Given the description of an element on the screen output the (x, y) to click on. 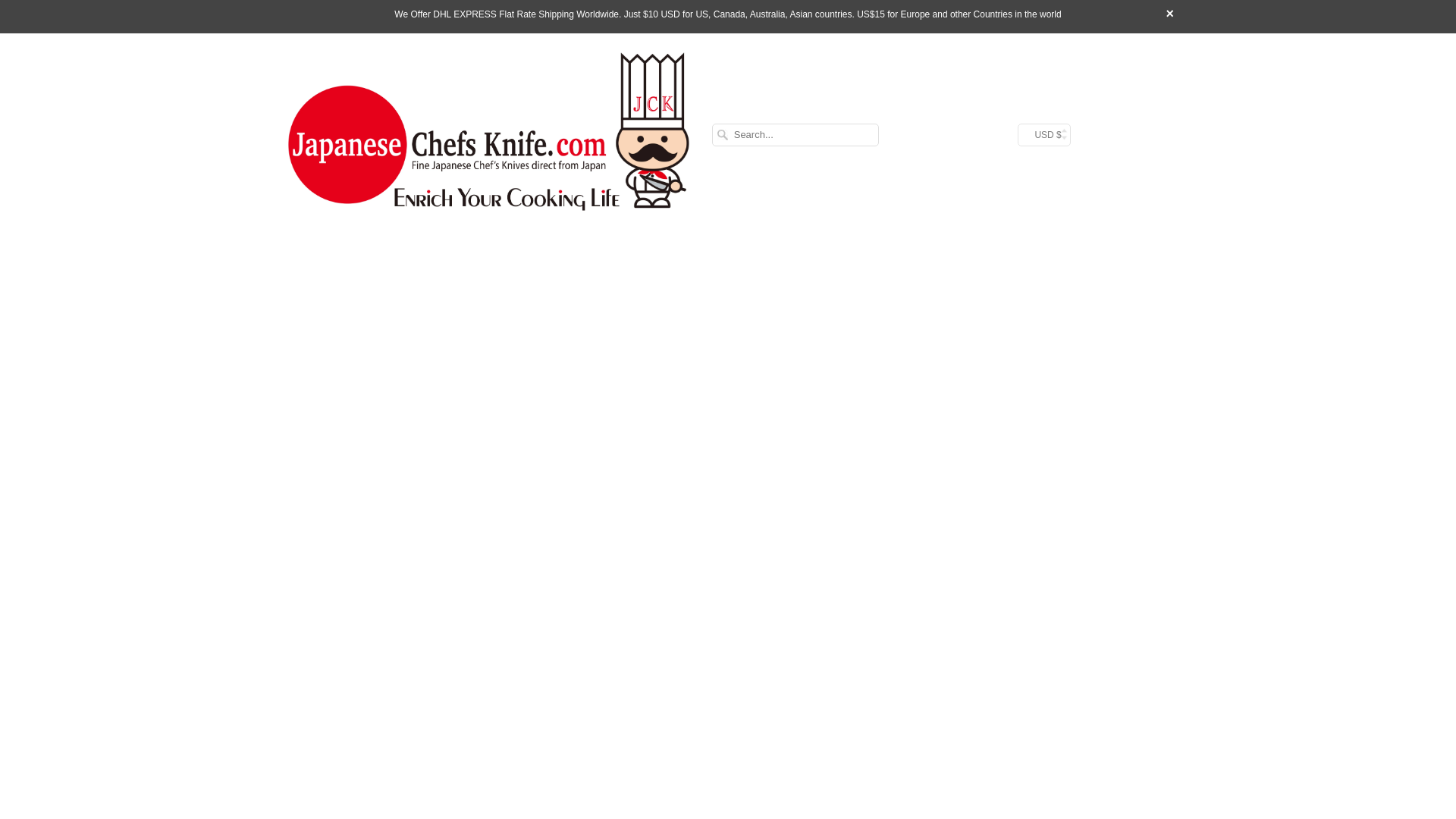
JapaneseChefsKnife.Com (489, 135)
